Given the description of an element on the screen output the (x, y) to click on. 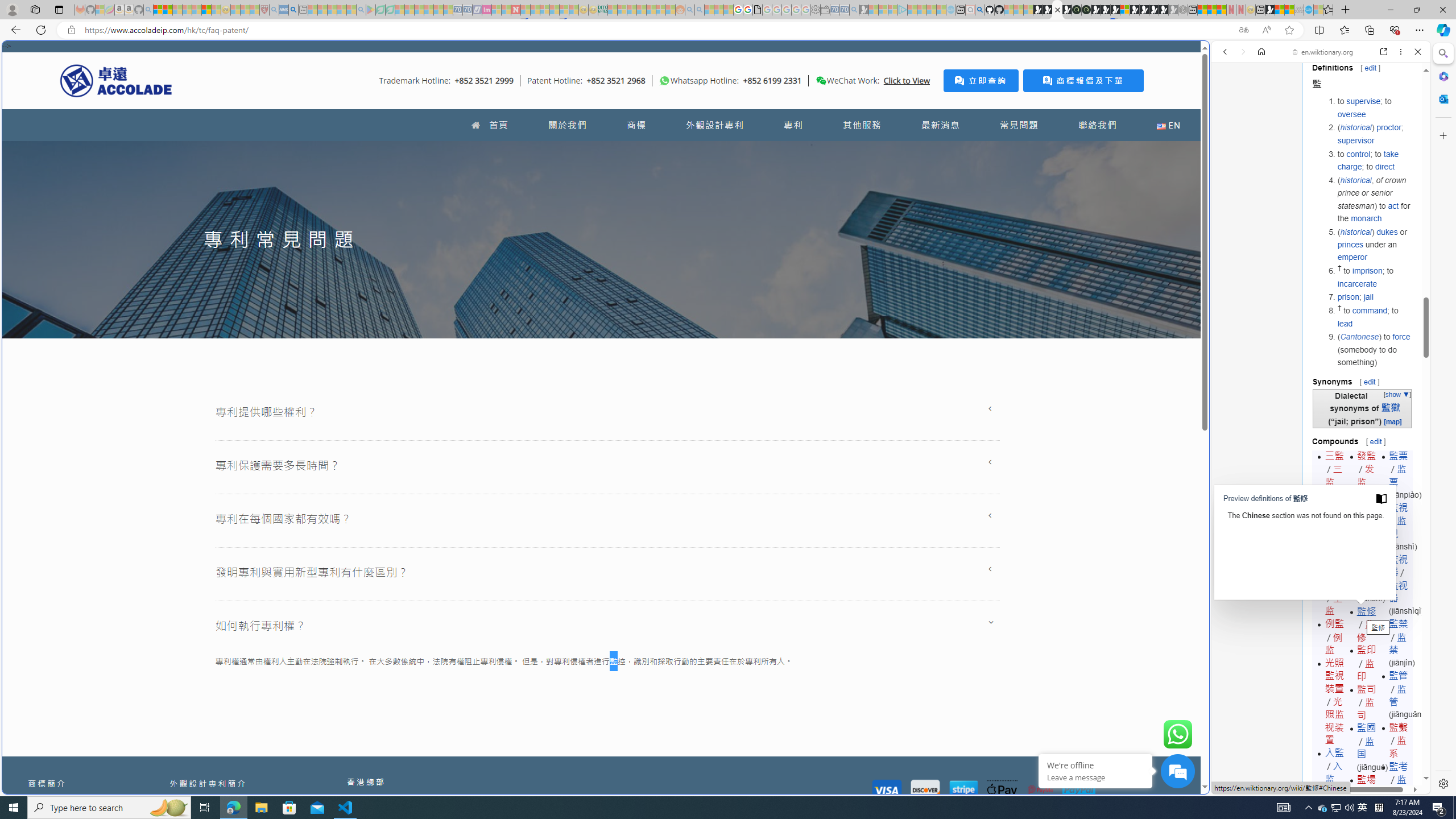
Close Customize pane (1442, 135)
To get missing image descriptions, open the context menu. (664, 80)
Microsoft-Report a Concern to Bing - Sleeping (99, 9)
Play Zoo Boom in your browser | Games from Microsoft Start (1047, 9)
Local - MSN - Sleeping (254, 9)
take charge (1367, 160)
(Cantonese) to force(somebody to do something) (1374, 349)
